Given the description of an element on the screen output the (x, y) to click on. 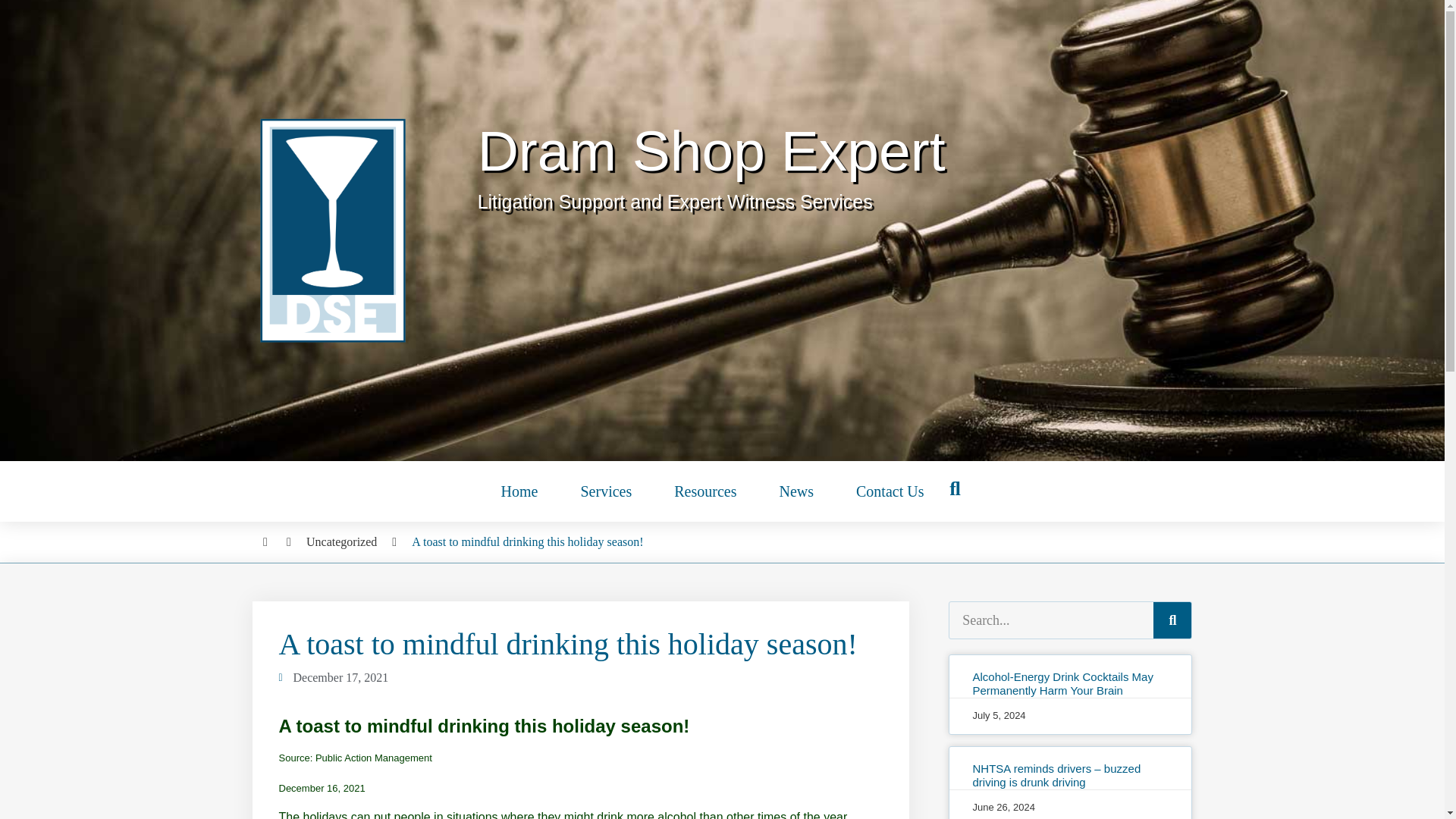
Contact Us (889, 491)
News (795, 491)
Services (605, 491)
A toast to mindful drinking this holiday season! (527, 542)
Home (519, 491)
December 17, 2021 (333, 678)
Uncategorized (341, 542)
Resources (704, 491)
